Given the description of an element on the screen output the (x, y) to click on. 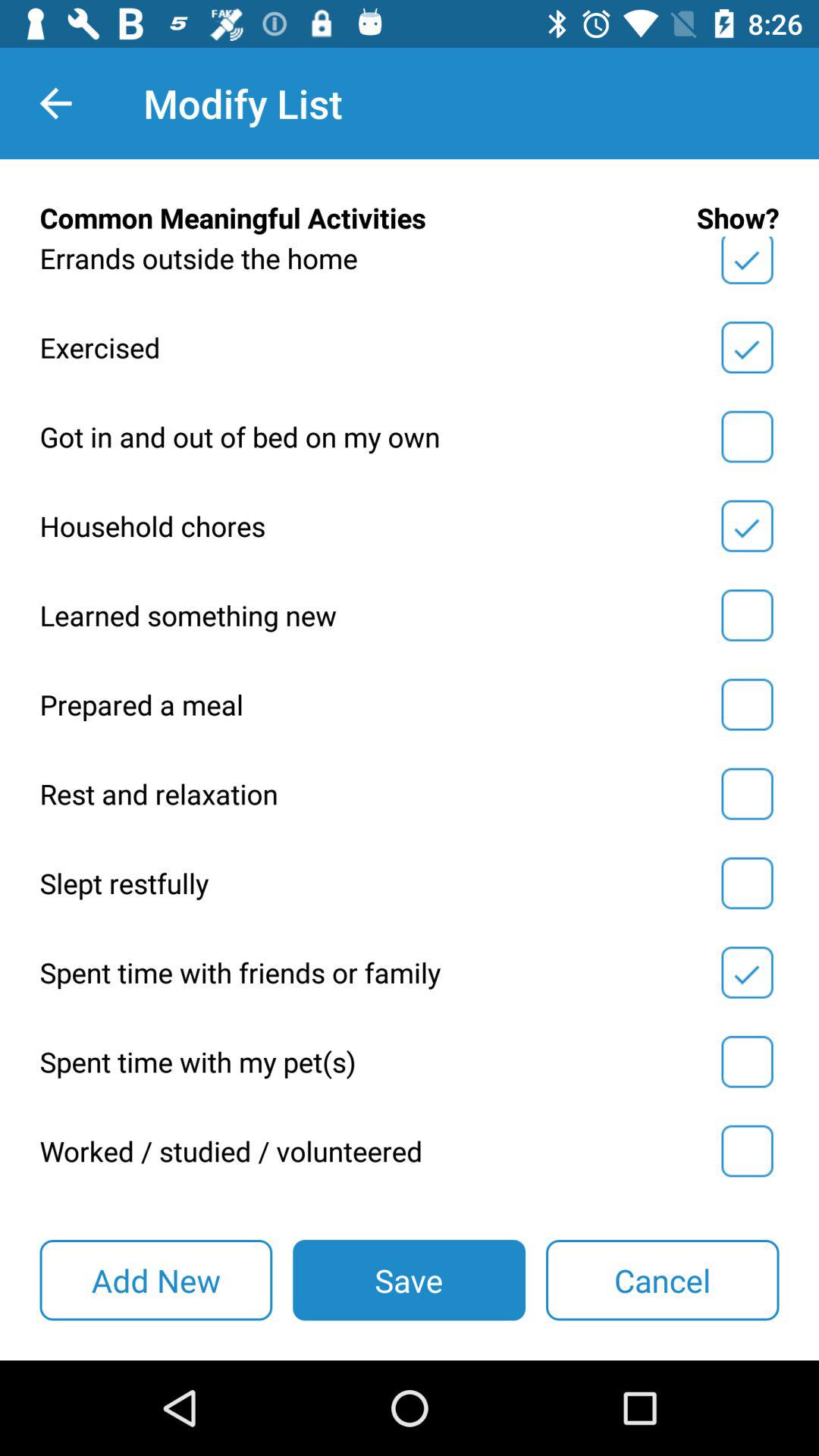
tick option (747, 615)
